Given the description of an element on the screen output the (x, y) to click on. 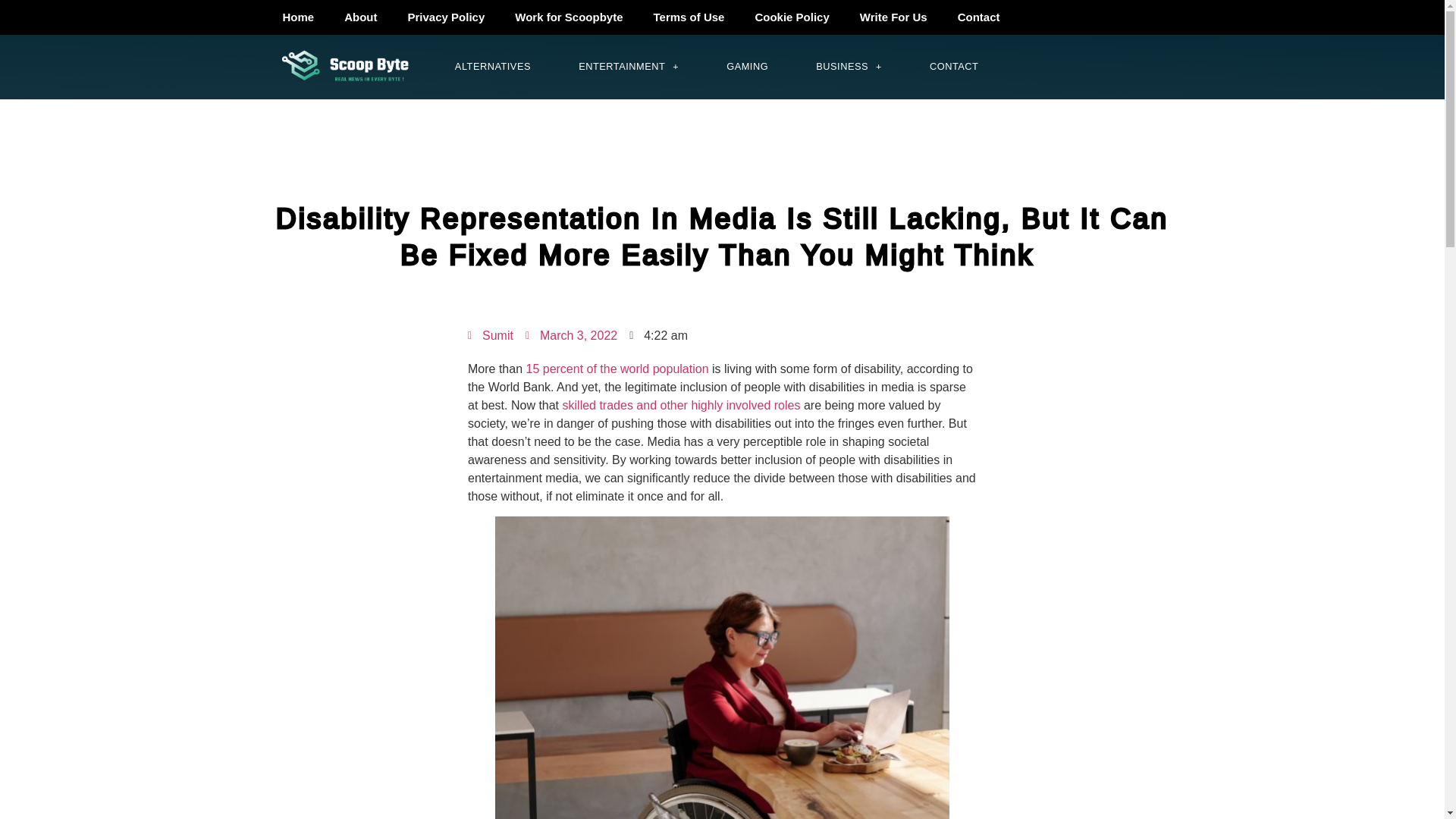
Contact (978, 17)
15 percent of the world population (616, 368)
Cookie Policy (791, 17)
Home (297, 17)
BUSINESS (848, 66)
About (360, 17)
CONTACT (954, 66)
Terms of Use (689, 17)
skilled trades and other highly involved roles (681, 404)
ALTERNATIVES (492, 66)
